Given the description of an element on the screen output the (x, y) to click on. 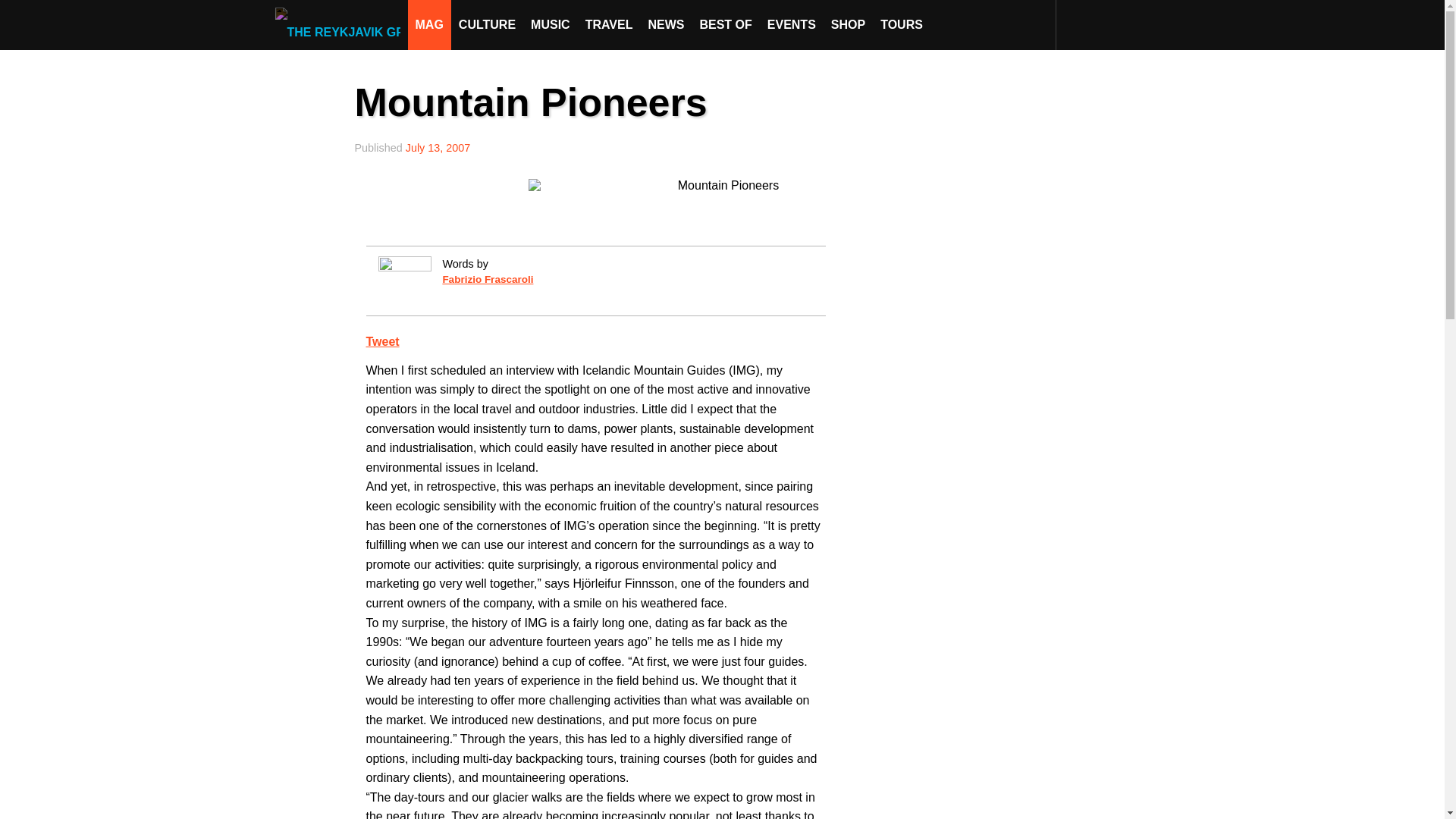
BEST OF (724, 24)
Tweet (381, 341)
The Reykjavik Grapevine (341, 24)
EVENTS (792, 24)
Posts by Fabrizio Frascaroli (487, 279)
TRAVEL (609, 24)
NEWS (665, 24)
CULTURE (486, 24)
SHOP (848, 24)
TOURS (901, 24)
